Given the description of an element on the screen output the (x, y) to click on. 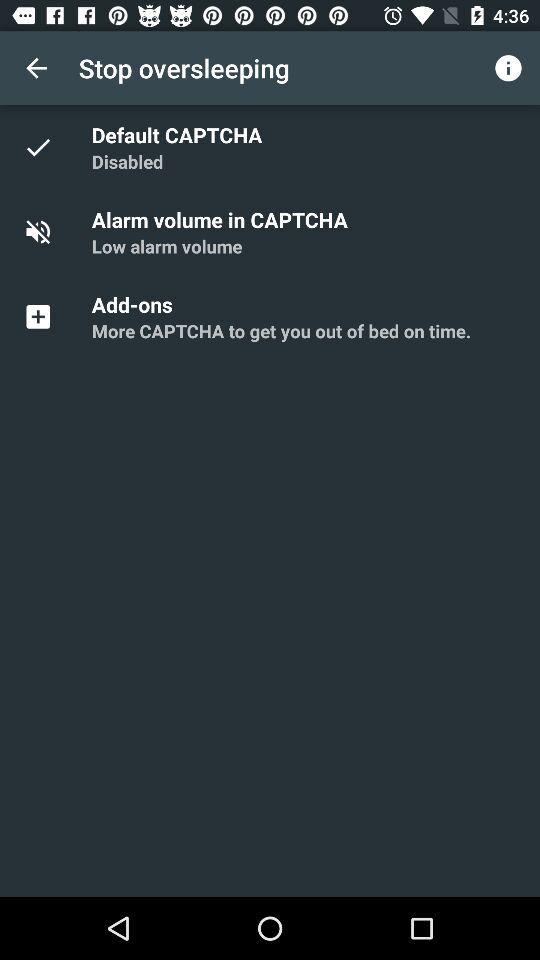
scroll to the more captcha to item (281, 330)
